Given the description of an element on the screen output the (x, y) to click on. 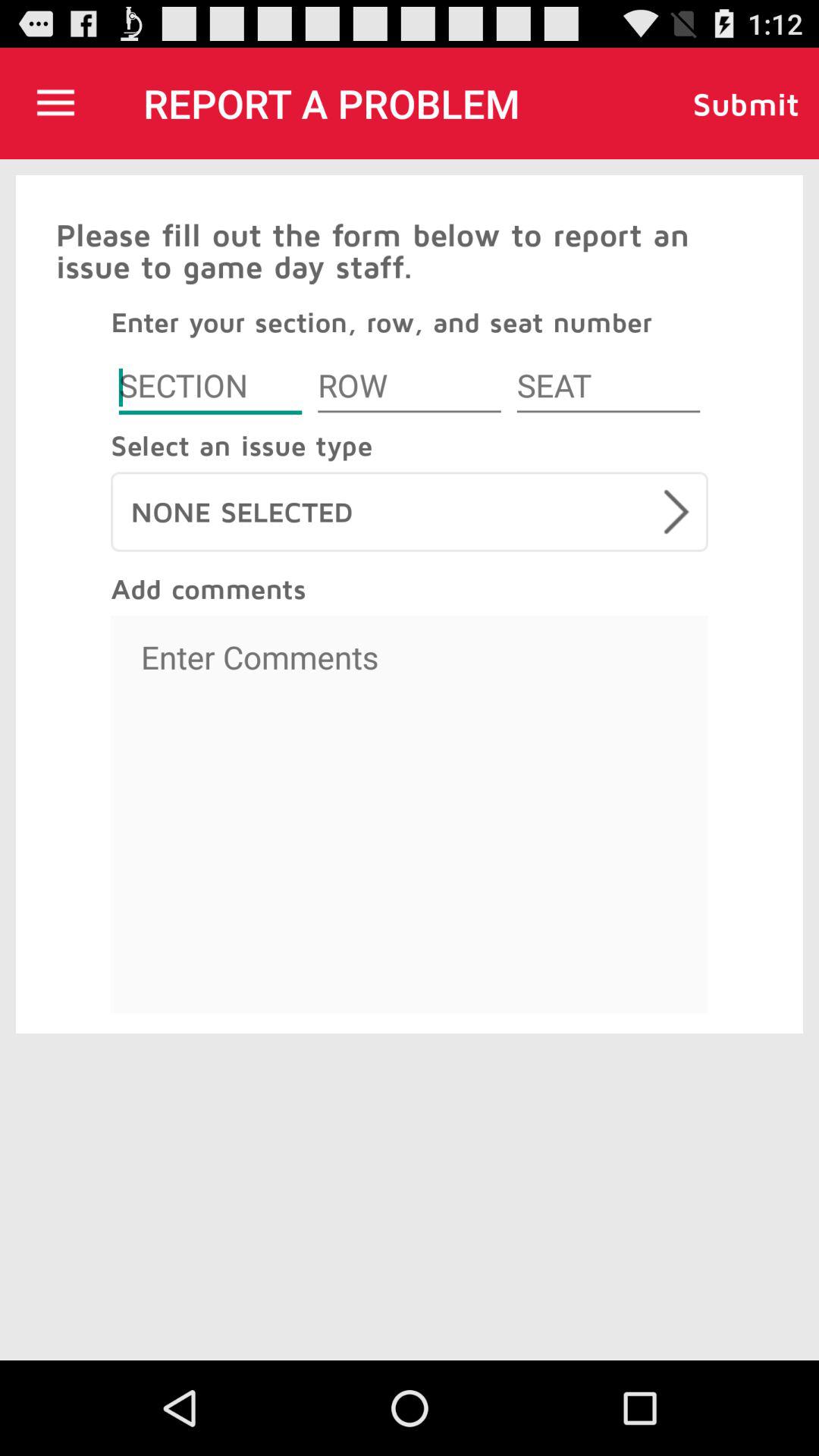
enter section number (209, 388)
